Given the description of an element on the screen output the (x, y) to click on. 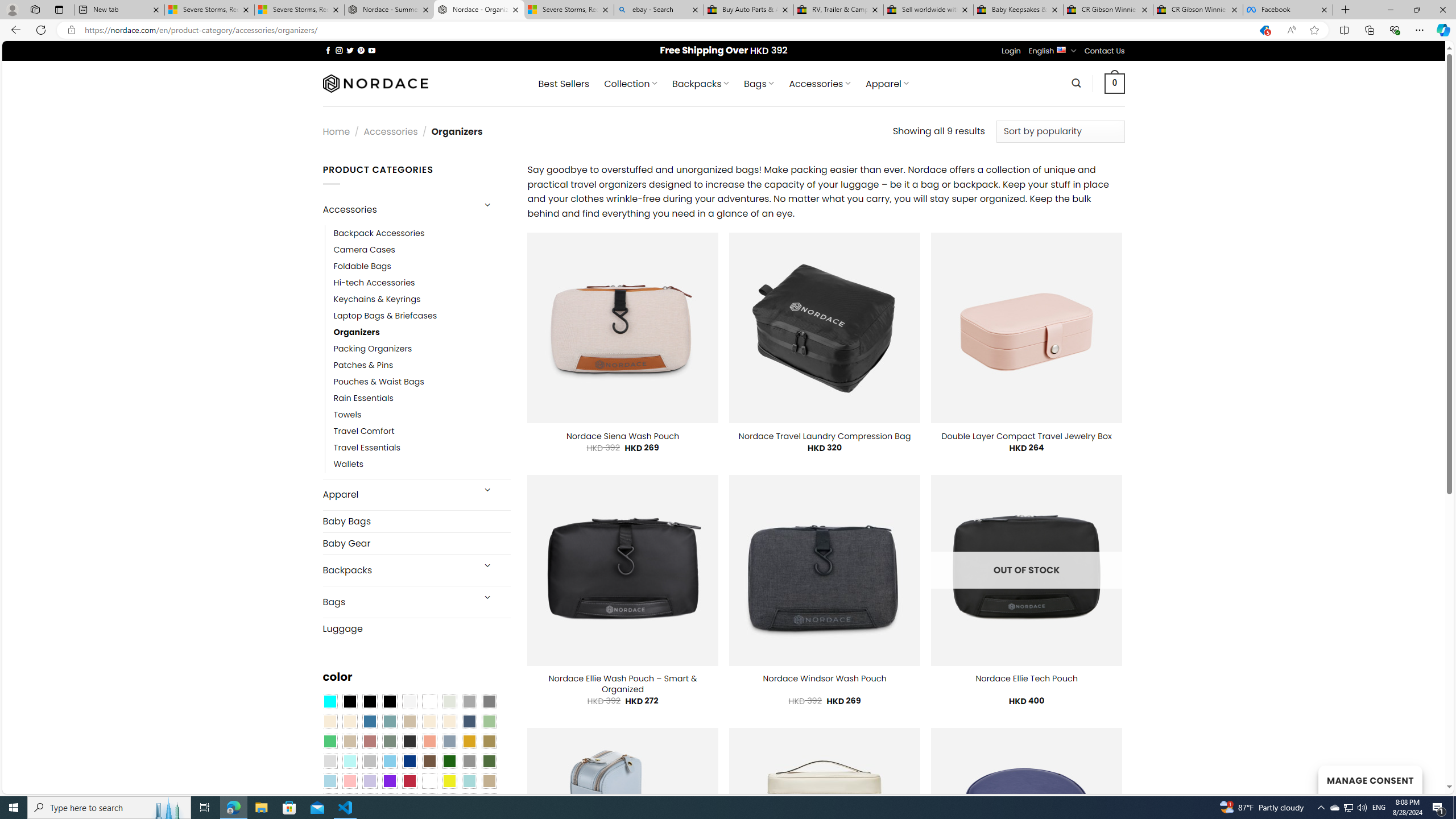
White (429, 780)
  0   (1115, 83)
Follow on Facebook (327, 49)
Nordace (374, 83)
Packing Organizers (372, 348)
Sell worldwide with eBay (928, 9)
Dark Green (449, 761)
Pouches & Waist Bags (378, 381)
Nordace - Organizers (478, 9)
Login (1010, 50)
Light Purple (369, 780)
